Given the description of an element on the screen output the (x, y) to click on. 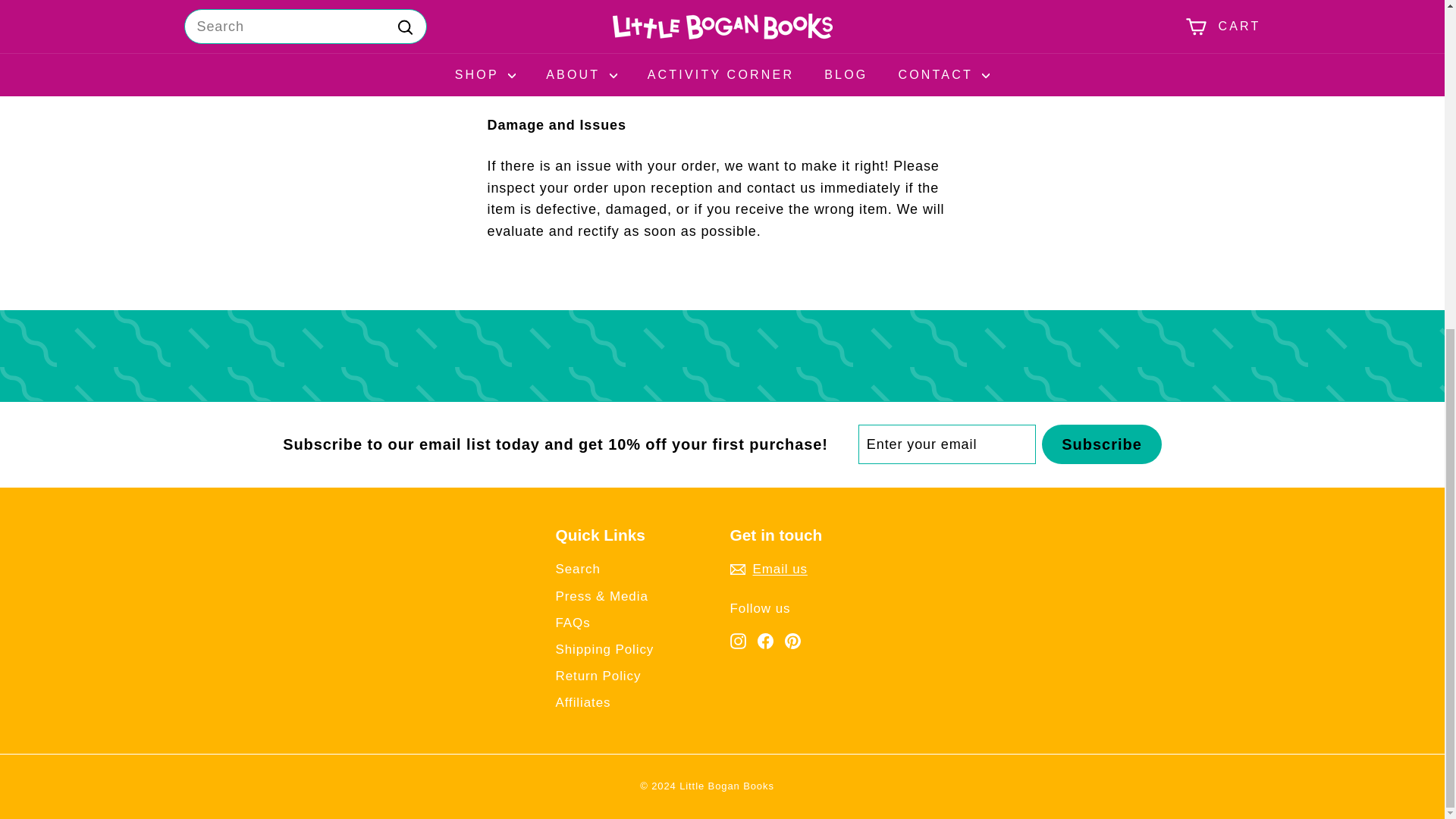
instagram (737, 641)
